Given the description of an element on the screen output the (x, y) to click on. 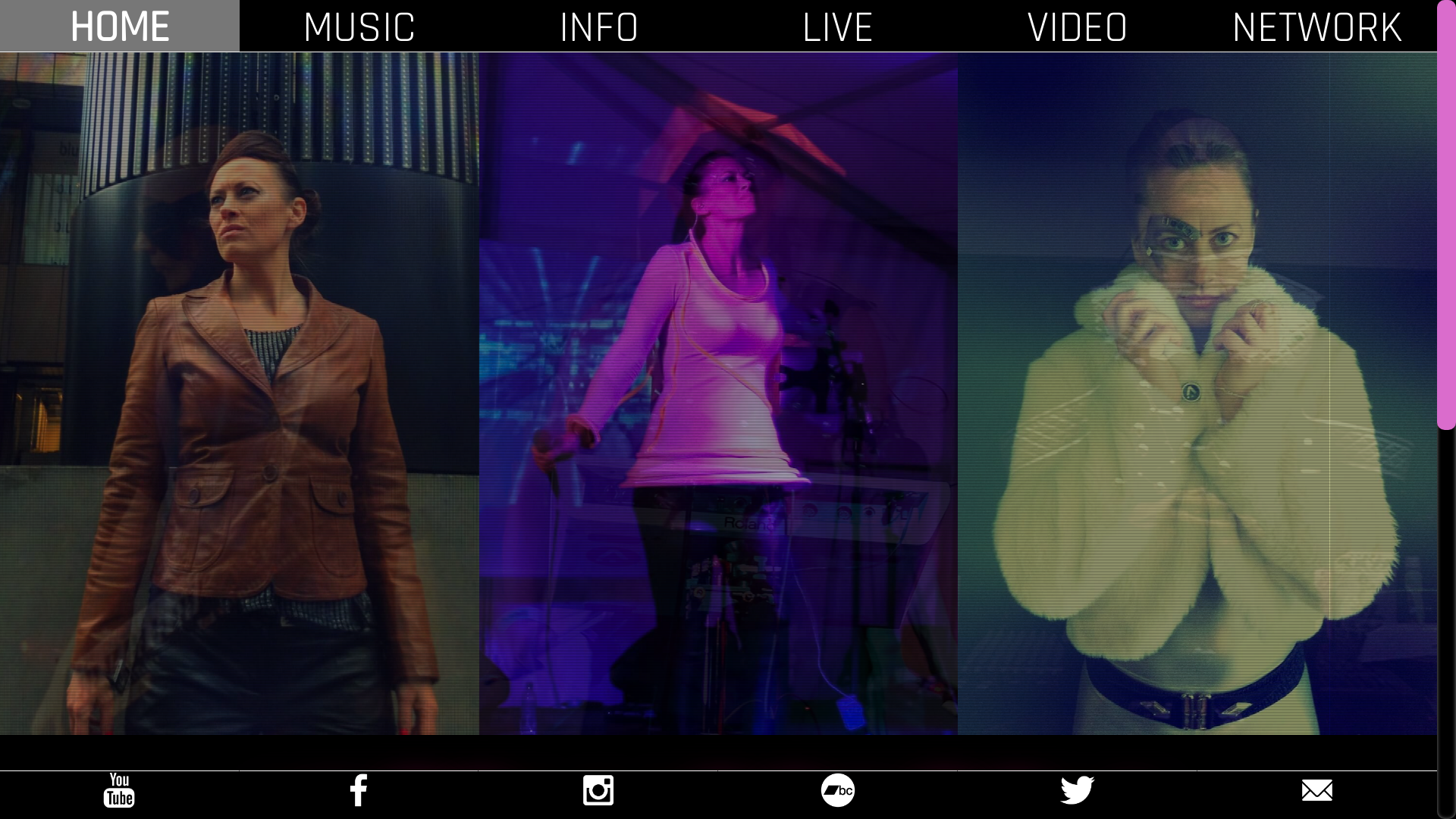
INFO Element type: text (598, 28)
NETWORK Element type: text (1317, 28)
MUSIC Element type: text (359, 28)
LIVE Element type: text (837, 28)
HOME Element type: text (119, 28)
VIDEO Element type: text (1077, 28)
